Given the description of an element on the screen output the (x, y) to click on. 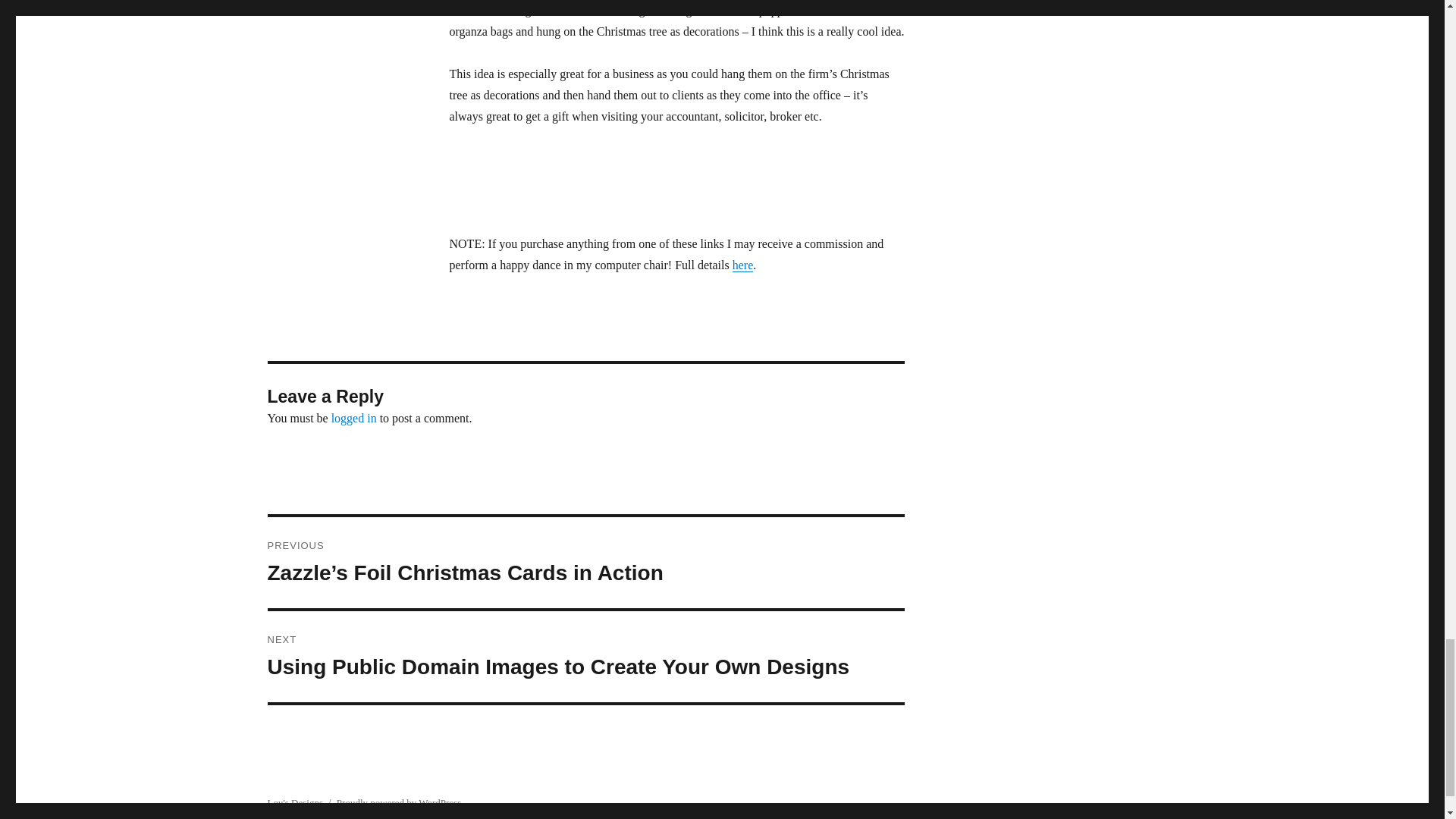
Proudly powered by WordPress (398, 802)
here (743, 264)
Lou's Designs (293, 802)
logged in (354, 418)
